Given the description of an element on the screen output the (x, y) to click on. 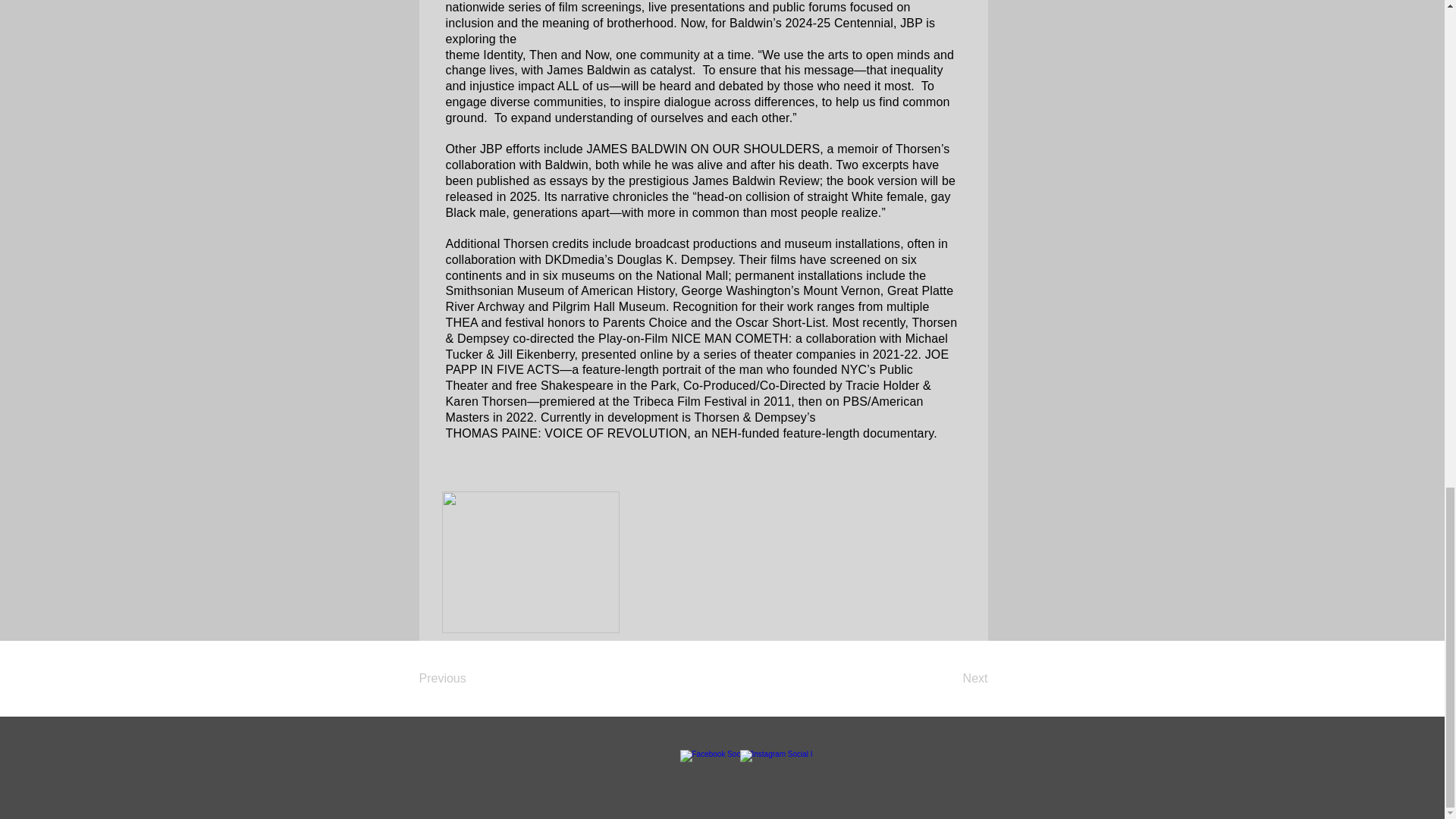
5.JB.KarenThorsen.FilmForum2024.jpg (529, 562)
Previous (467, 678)
Next (949, 678)
